Given the description of an element on the screen output the (x, y) to click on. 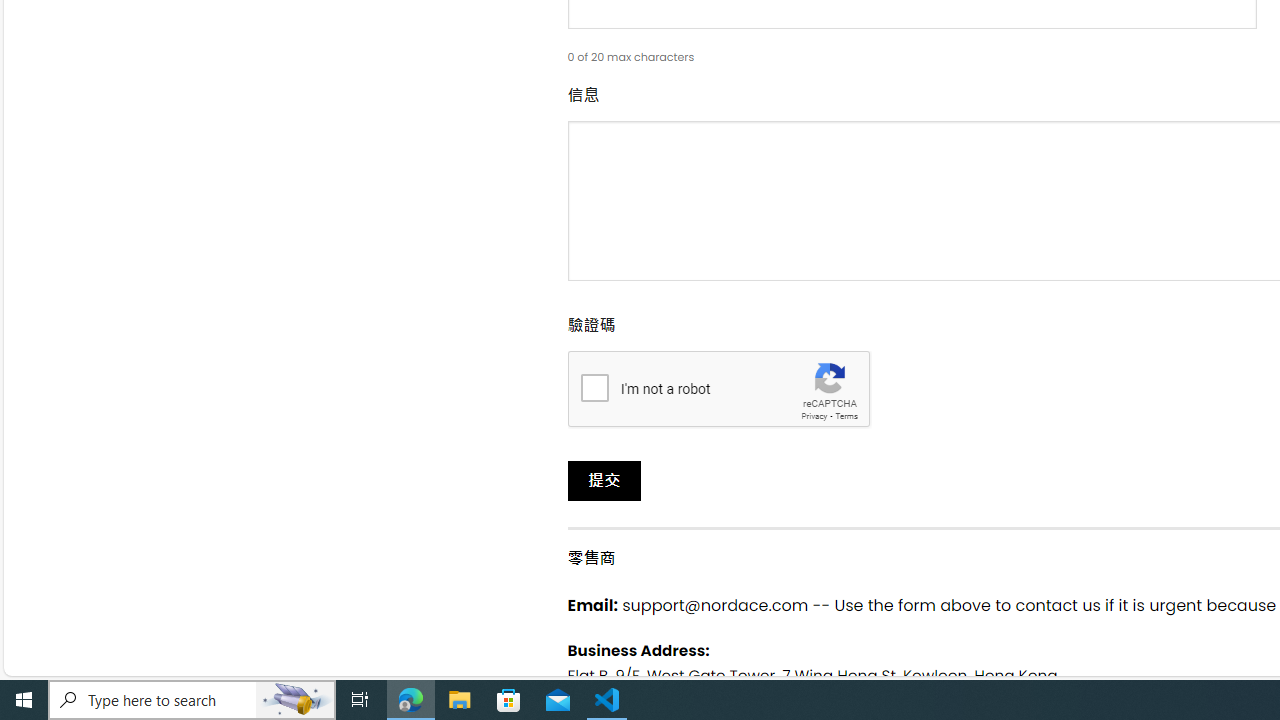
Privacy (814, 416)
Terms (846, 416)
I'm not a robot (594, 386)
